Given the description of an element on the screen output the (x, y) to click on. 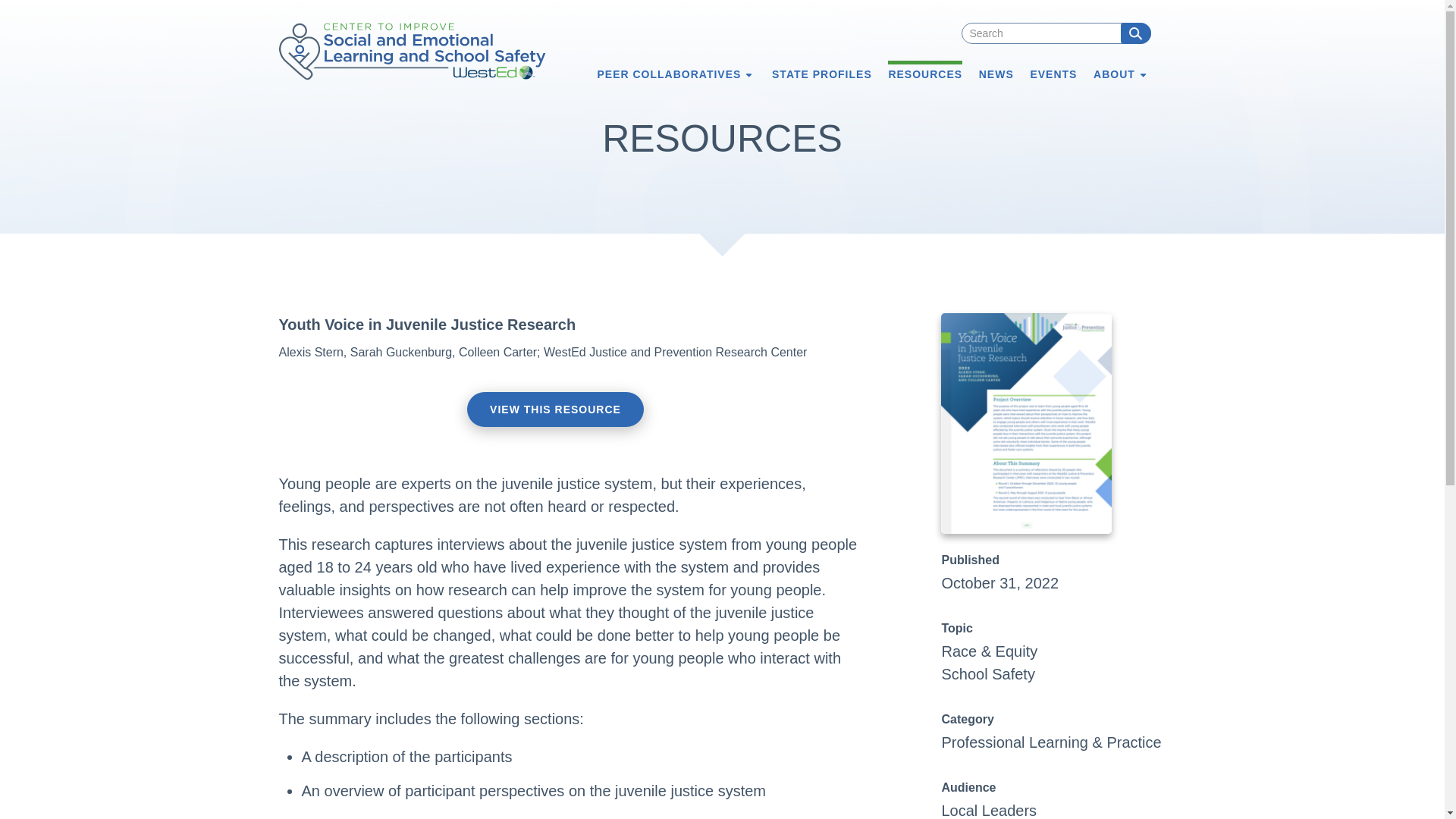
STATE PROFILES (821, 72)
Go (1136, 33)
SEL Center (412, 51)
Go (1136, 33)
ABOUT (1119, 72)
RESOURCES (925, 72)
EVENTS (1053, 72)
NEWS (995, 72)
VIEW THIS RESOURCE (555, 409)
